Given the description of an element on the screen output the (x, y) to click on. 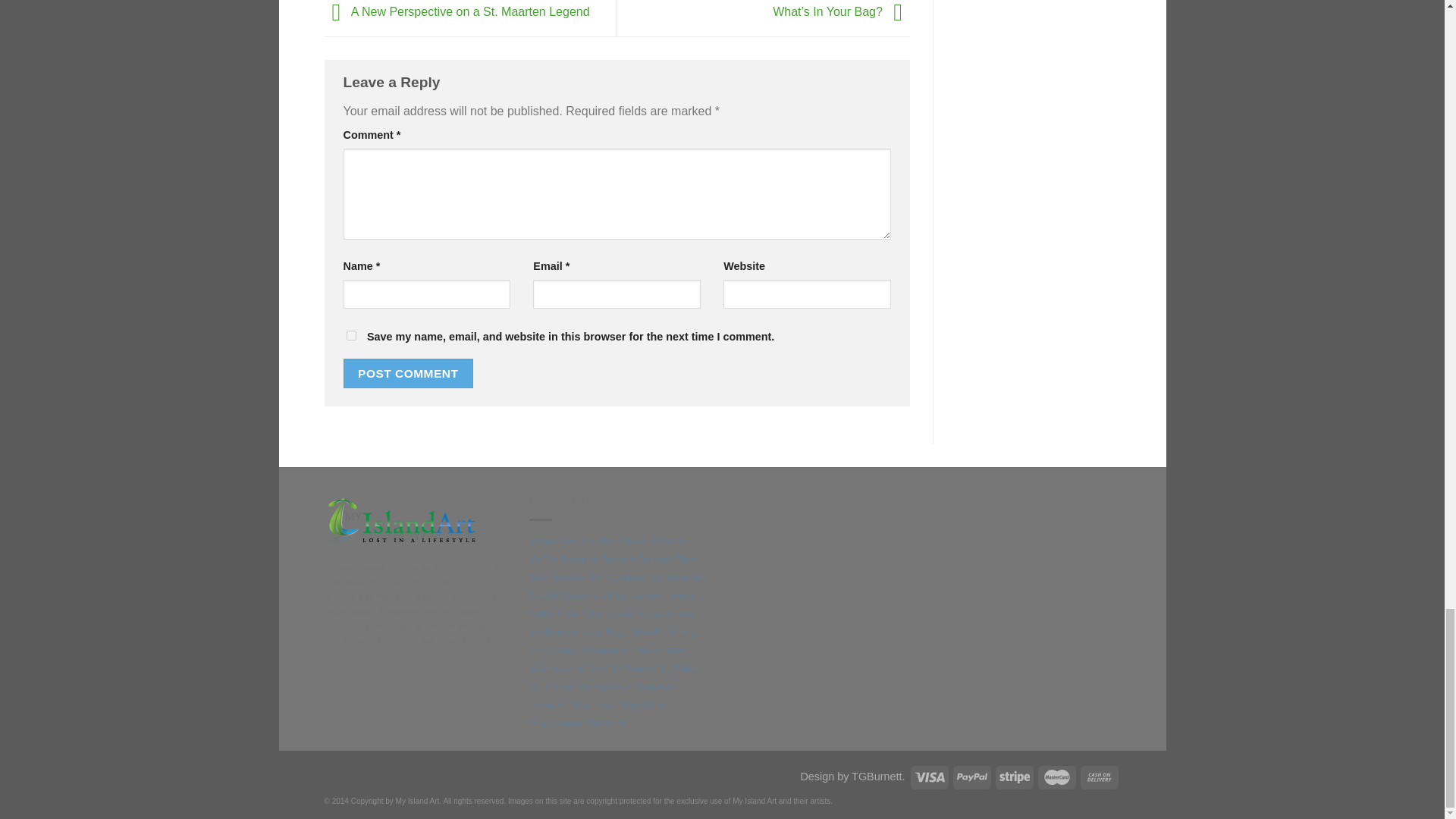
Post Comment (407, 373)
yes (350, 335)
